Given the description of an element on the screen output the (x, y) to click on. 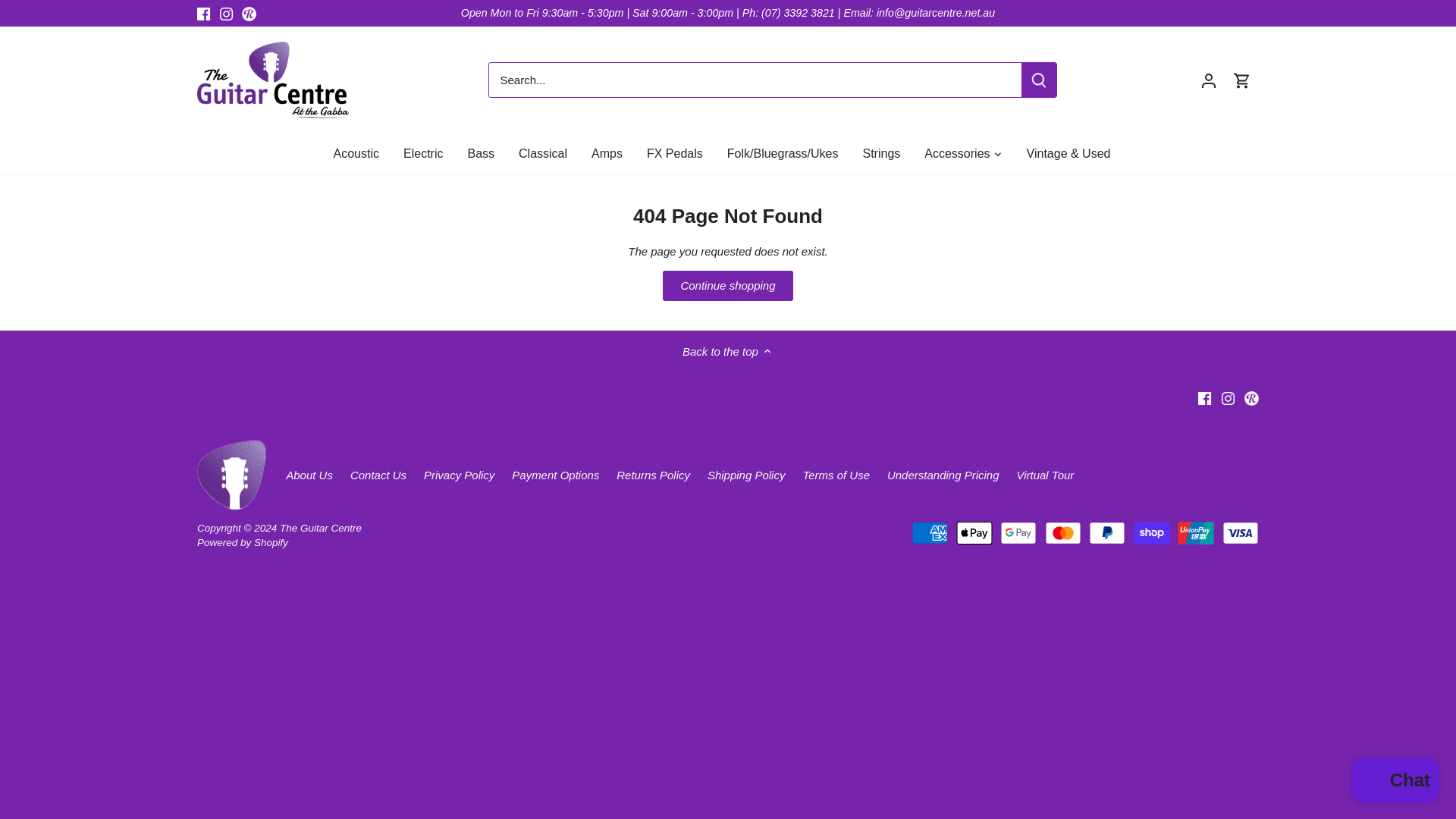
Instagram (225, 13)
Apple Pay (974, 532)
Instagram (1227, 398)
FX Pedals (674, 153)
Acoustic (362, 153)
Electric (422, 153)
Facebook (202, 13)
Shopify online store chat (1395, 781)
Accessories (956, 153)
Bass (480, 153)
